Given the description of an element on the screen output the (x, y) to click on. 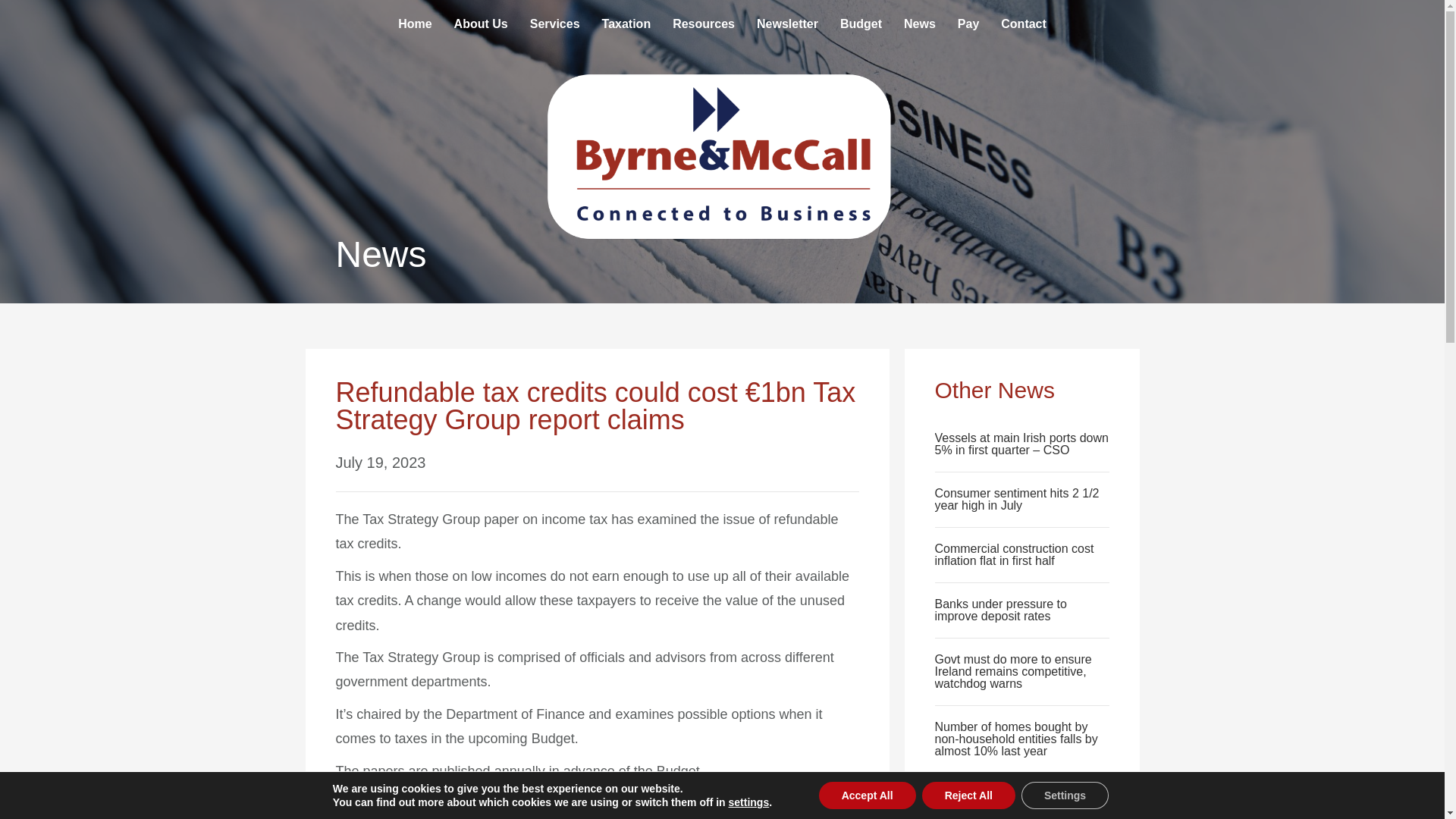
Newsletter (786, 23)
About Us (481, 23)
Pay (968, 23)
Taxation (626, 23)
Commercial construction cost inflation flat in first half (1013, 554)
Banks under pressure to improve deposit rates (999, 609)
byrne-mccall-white-bg-logo (722, 155)
Euro zone business growth stalls in July, PMIs show (1007, 800)
Banks under pressure to improve deposit rates (999, 609)
Euro zone business growth stalls in July, PMIs show (1007, 800)
Resources (703, 23)
Services (555, 23)
Budget (860, 23)
Home (414, 23)
